Given the description of an element on the screen output the (x, y) to click on. 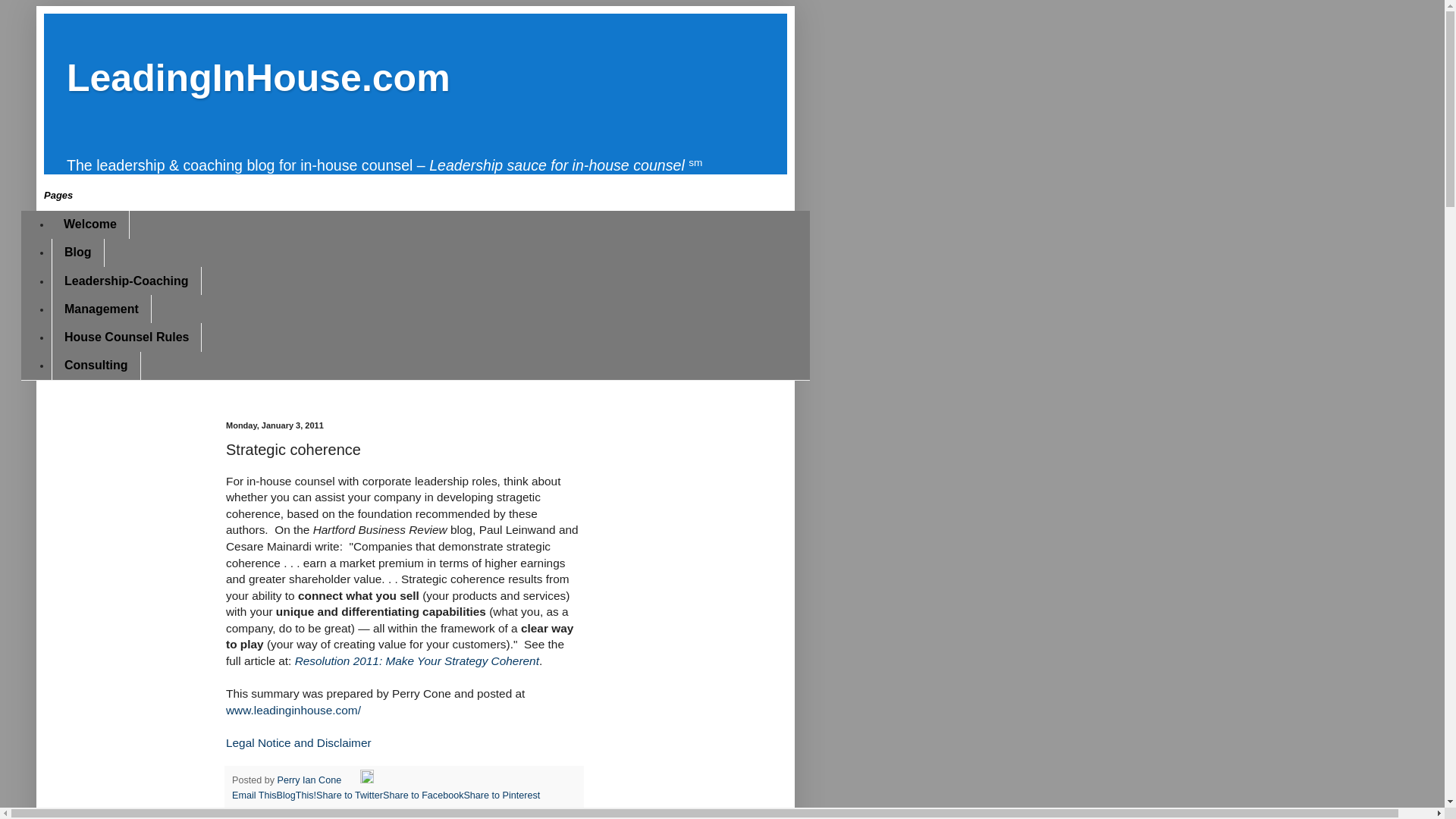
LeadingInHouse.com (257, 77)
Welcome (89, 224)
BlogThis! (296, 795)
Share to Twitter (348, 795)
Share to Twitter (348, 795)
Blog (77, 252)
House Counsel Rules (126, 336)
Leadership-Coaching (126, 280)
Share to Facebook (422, 795)
Resolution 2011: Make Your Strategy Coherent (416, 660)
Email This (253, 795)
Email Post (352, 779)
Email This (253, 795)
BlogThis! (296, 795)
Share to Pinterest (501, 795)
